Given the description of an element on the screen output the (x, y) to click on. 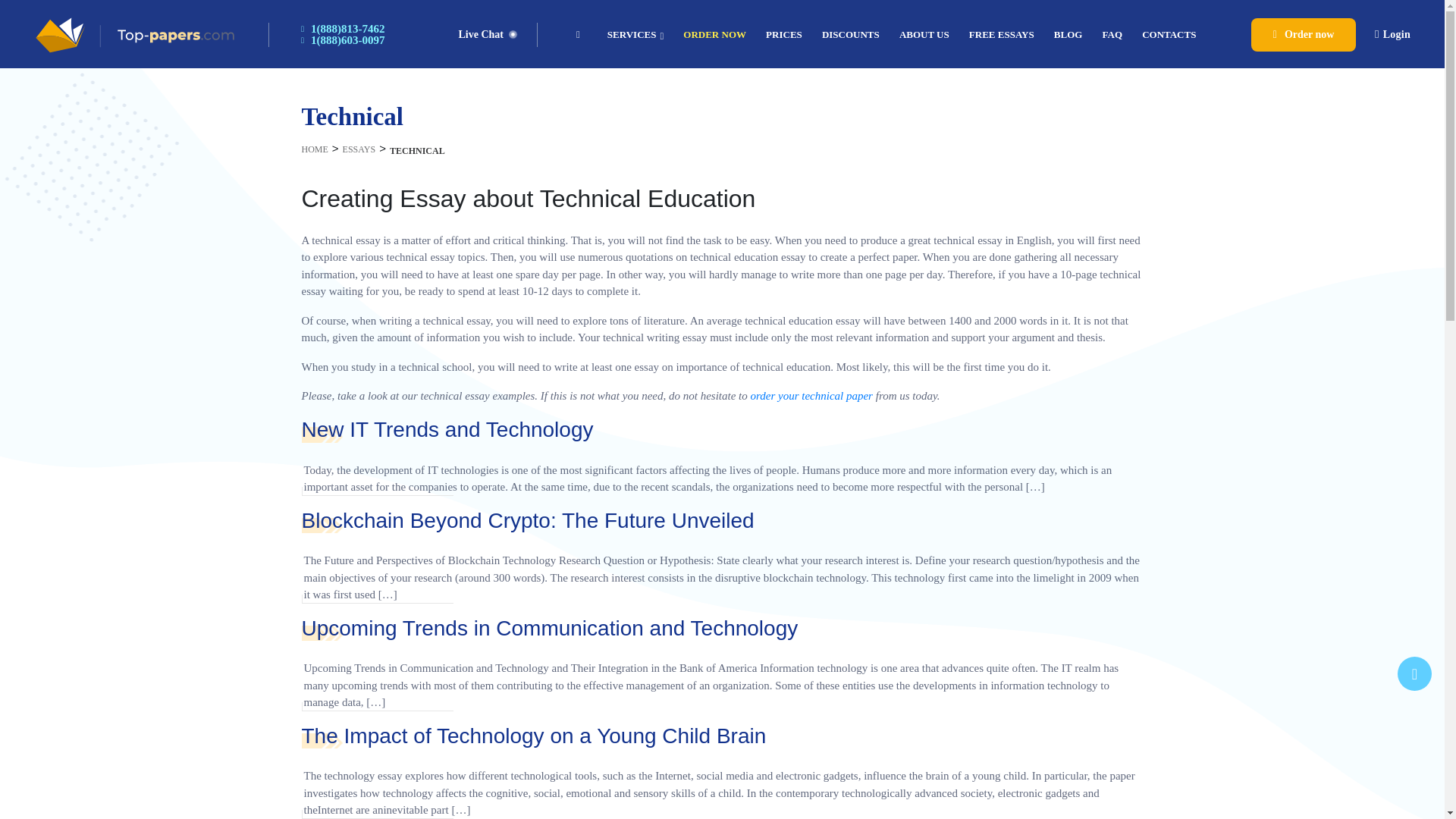
Go to Essays. (359, 147)
Home (582, 34)
Go to Top Papers. (316, 147)
Order now (713, 34)
